Given the description of an element on the screen output the (x, y) to click on. 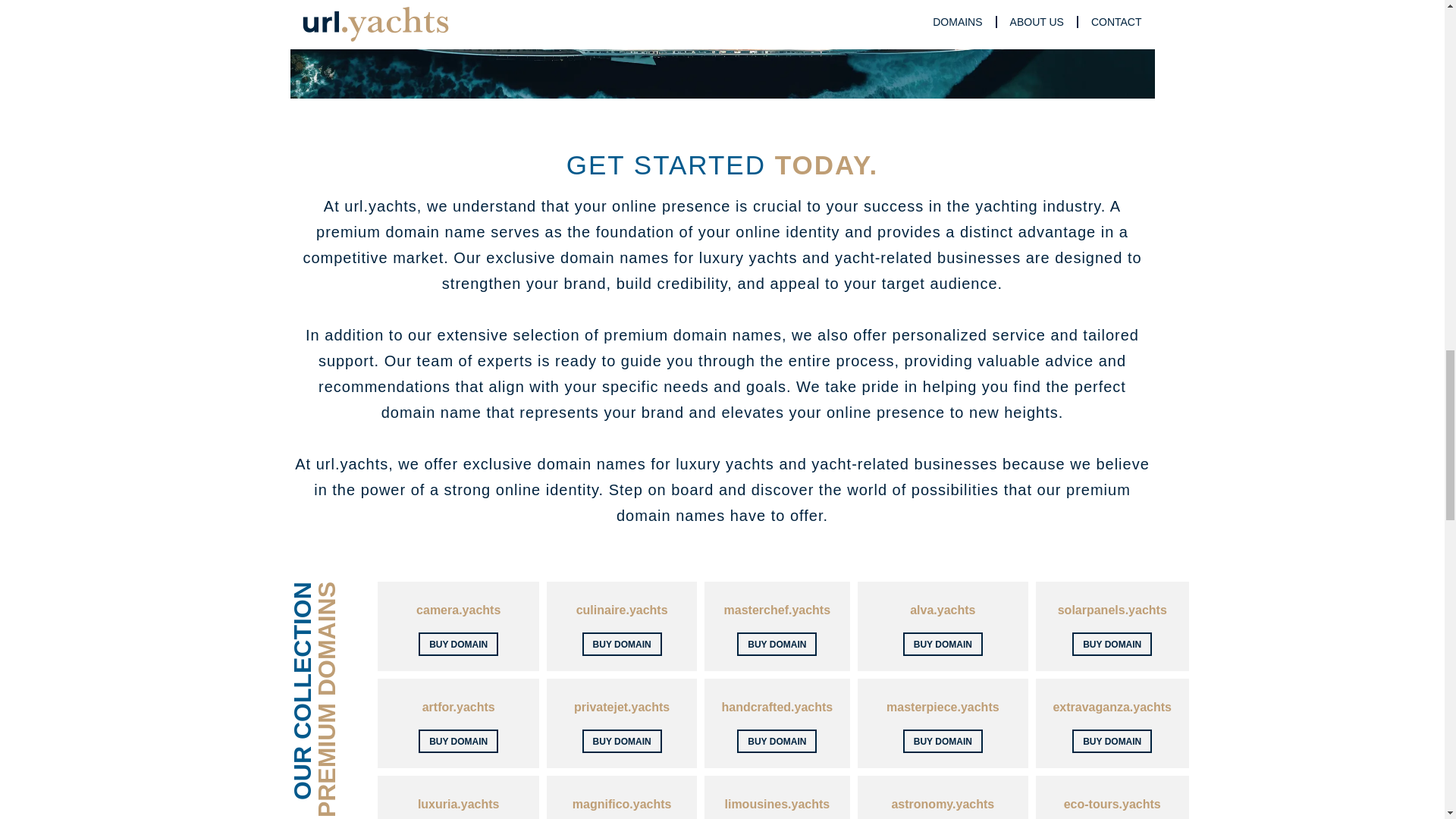
BUY DOMAIN (942, 740)
handcrafted.yachts (776, 706)
masterchef.yachts (776, 610)
solarpanels.yachts (1112, 610)
artfor.yachts (458, 706)
extravaganza.yachts (1112, 706)
BUY DOMAIN (1111, 644)
BUY DOMAIN (1111, 740)
luxuria.yachts (458, 804)
masterpiece.yachts (942, 706)
alva.yachts (942, 610)
BUY DOMAIN (458, 644)
BUY DOMAIN (622, 740)
BUY DOMAIN (776, 644)
camera.yachts (458, 610)
